Given the description of an element on the screen output the (x, y) to click on. 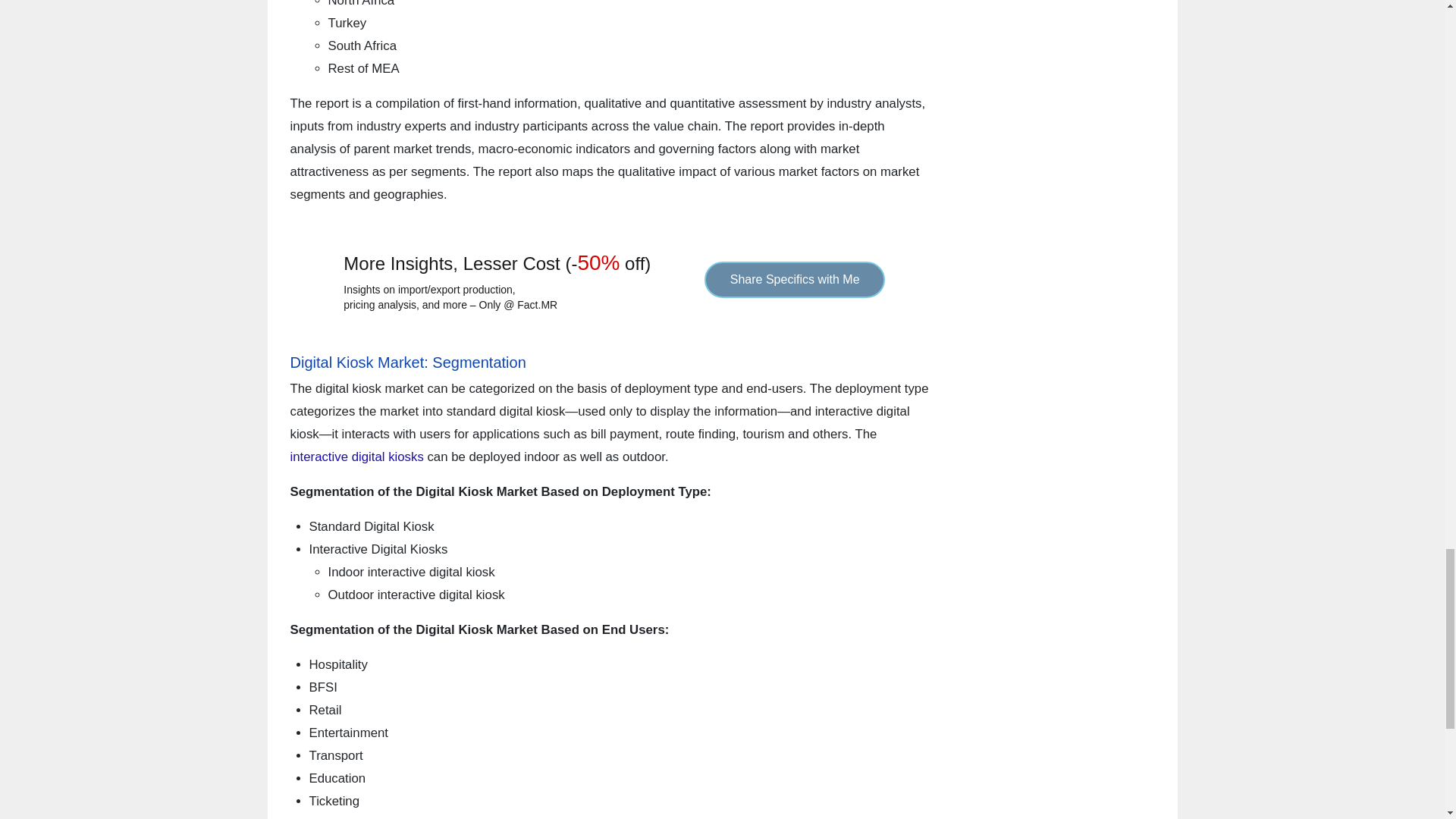
Share Specifics with Me (794, 279)
interactive digital kiosks (356, 456)
